Given the description of an element on the screen output the (x, y) to click on. 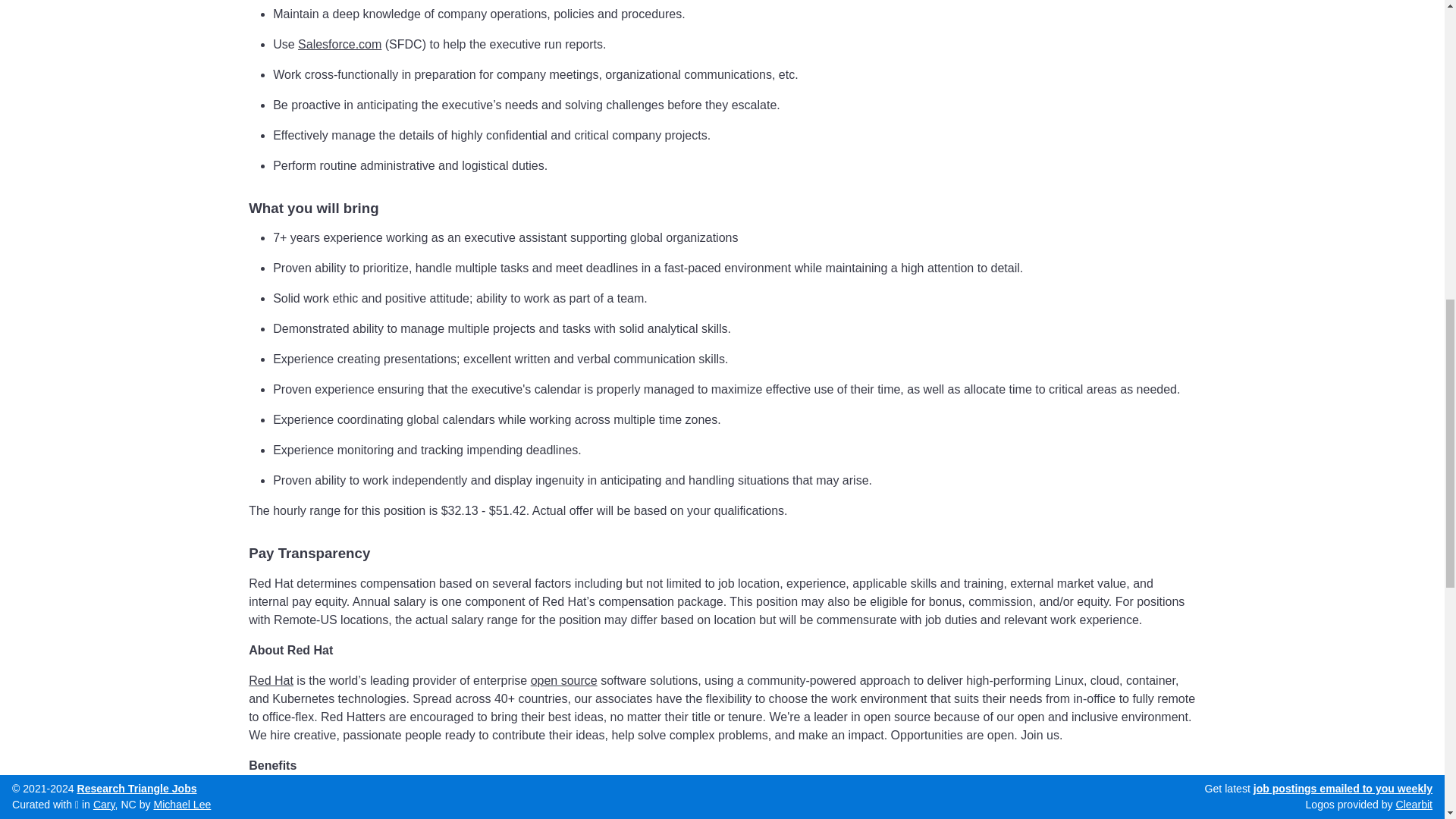
Salesforce.com (339, 43)
Red Hat (271, 680)
open source (563, 680)
